Given the description of an element on the screen output the (x, y) to click on. 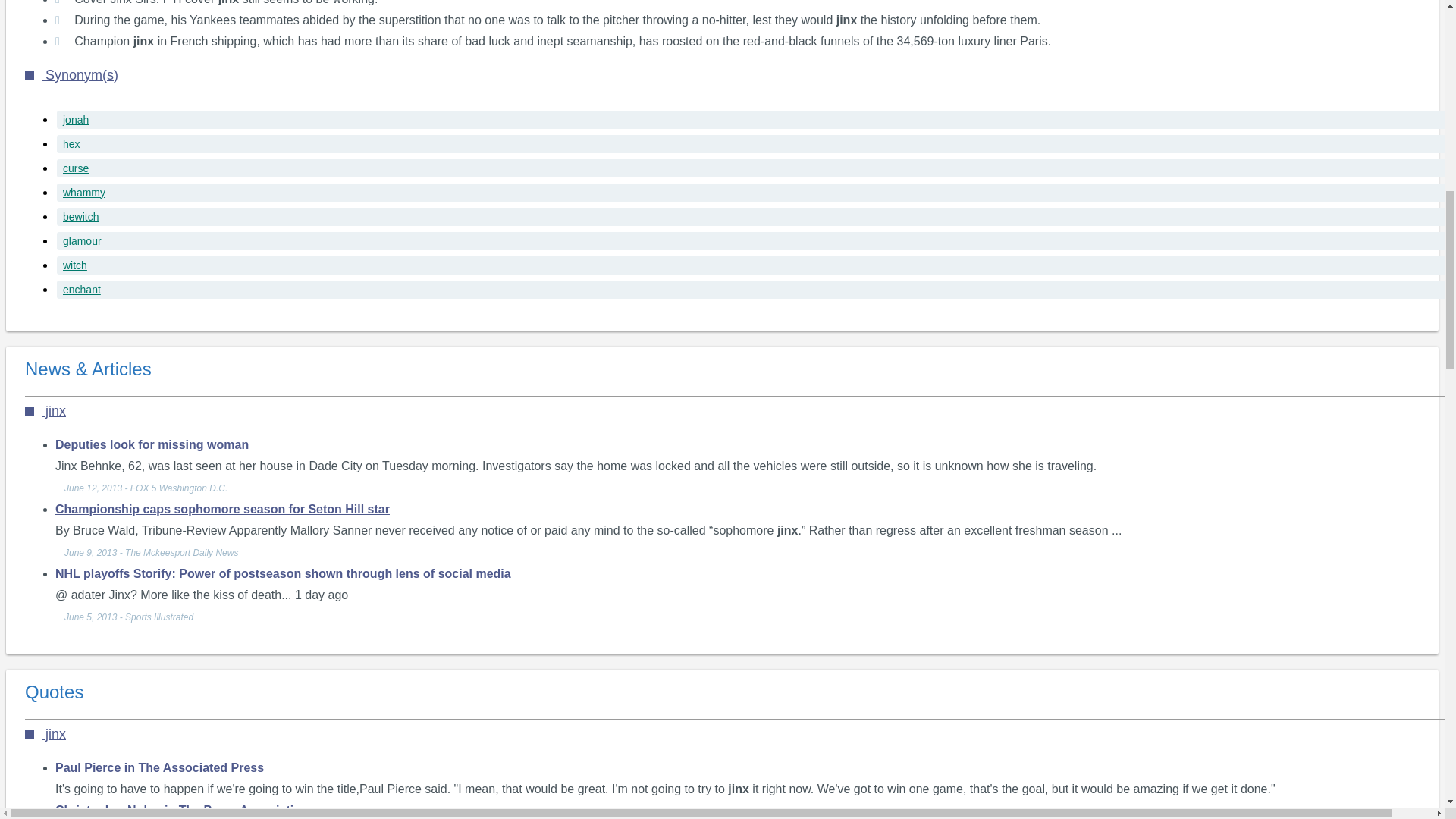
Paul Pierce in The Associated Press (159, 767)
  jinx (44, 410)
  jinx (44, 734)
Deputies look for missing woman (151, 444)
Christopher Nolan in The Press Association (181, 809)
Championship caps sophomore season for Seton Hill star (222, 508)
